Given the description of an element on the screen output the (x, y) to click on. 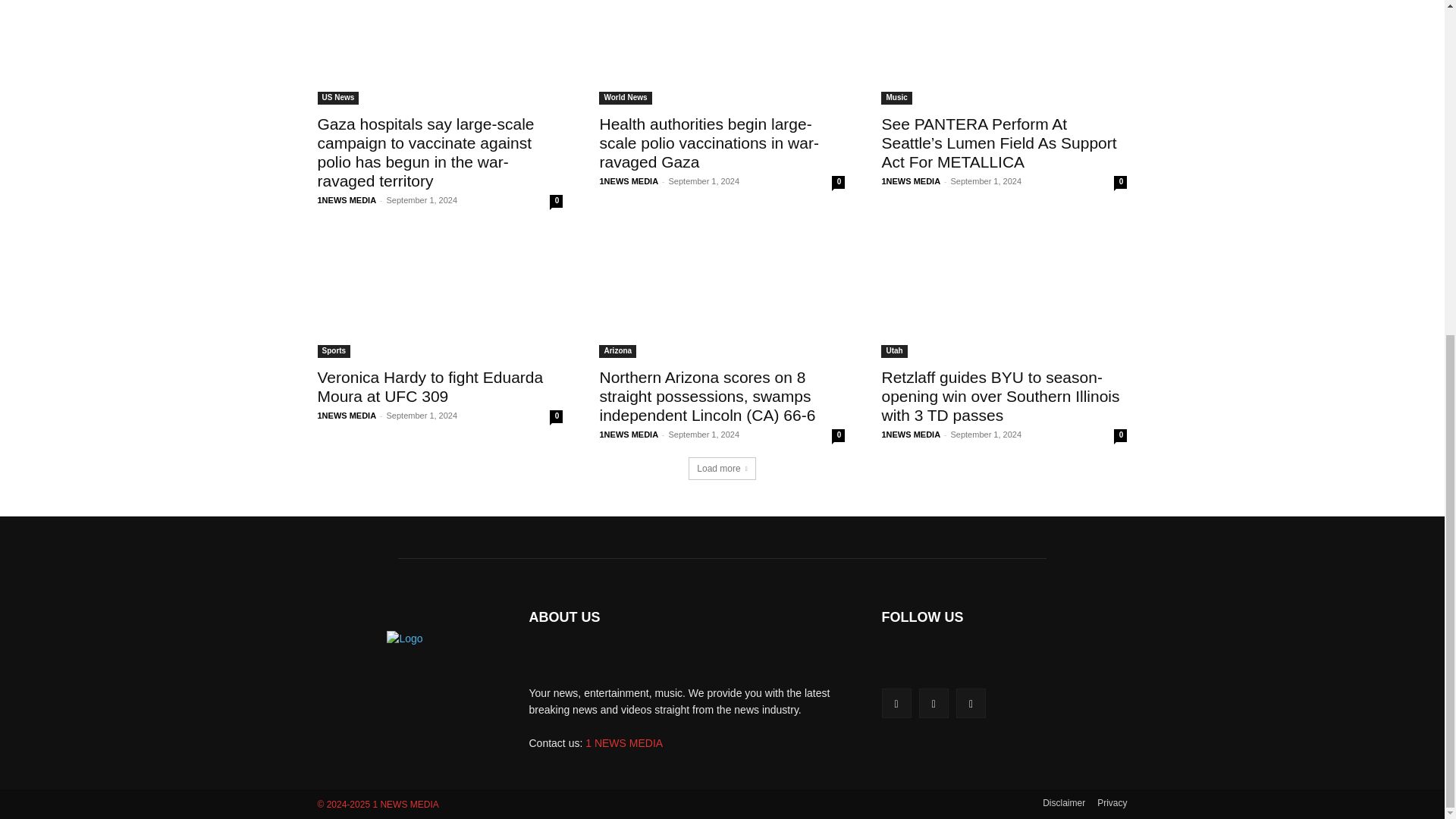
Veronica Hardy to fight Eduarda Moura at UFC 309 (430, 386)
Veronica Hardy to fight Eduarda Moura at UFC 309 (439, 296)
1NEWS MEDIA (346, 199)
0 (837, 182)
0 (556, 201)
US News (337, 97)
